Given the description of an element on the screen output the (x, y) to click on. 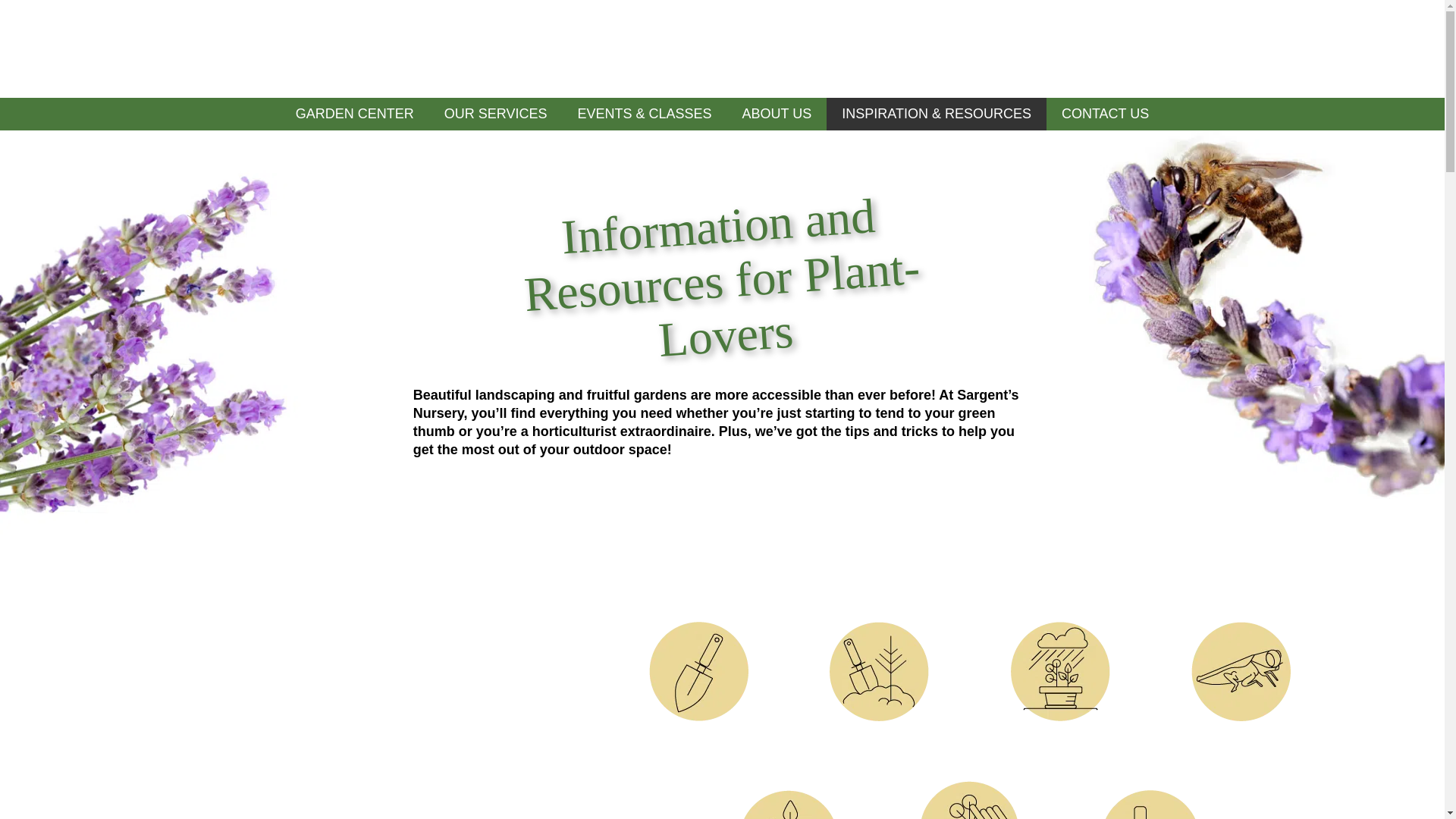
Choosing The Right Plants (969, 787)
Garden Diagnostics (878, 628)
BUY GIFT CARDS (1174, 46)
Rain Gardens (1059, 628)
Emerald Ash Borer (1240, 628)
GARDEN CENTER (355, 113)
Gardening Tips (1149, 796)
SEARCH (250, 46)
PAY INVOICE (1316, 46)
Before You Dig (698, 628)
Plant Care Guides (788, 796)
OUR SERVICES (495, 113)
Lavender Left (177, 136)
STORE HOURS (135, 46)
